Given the description of an element on the screen output the (x, y) to click on. 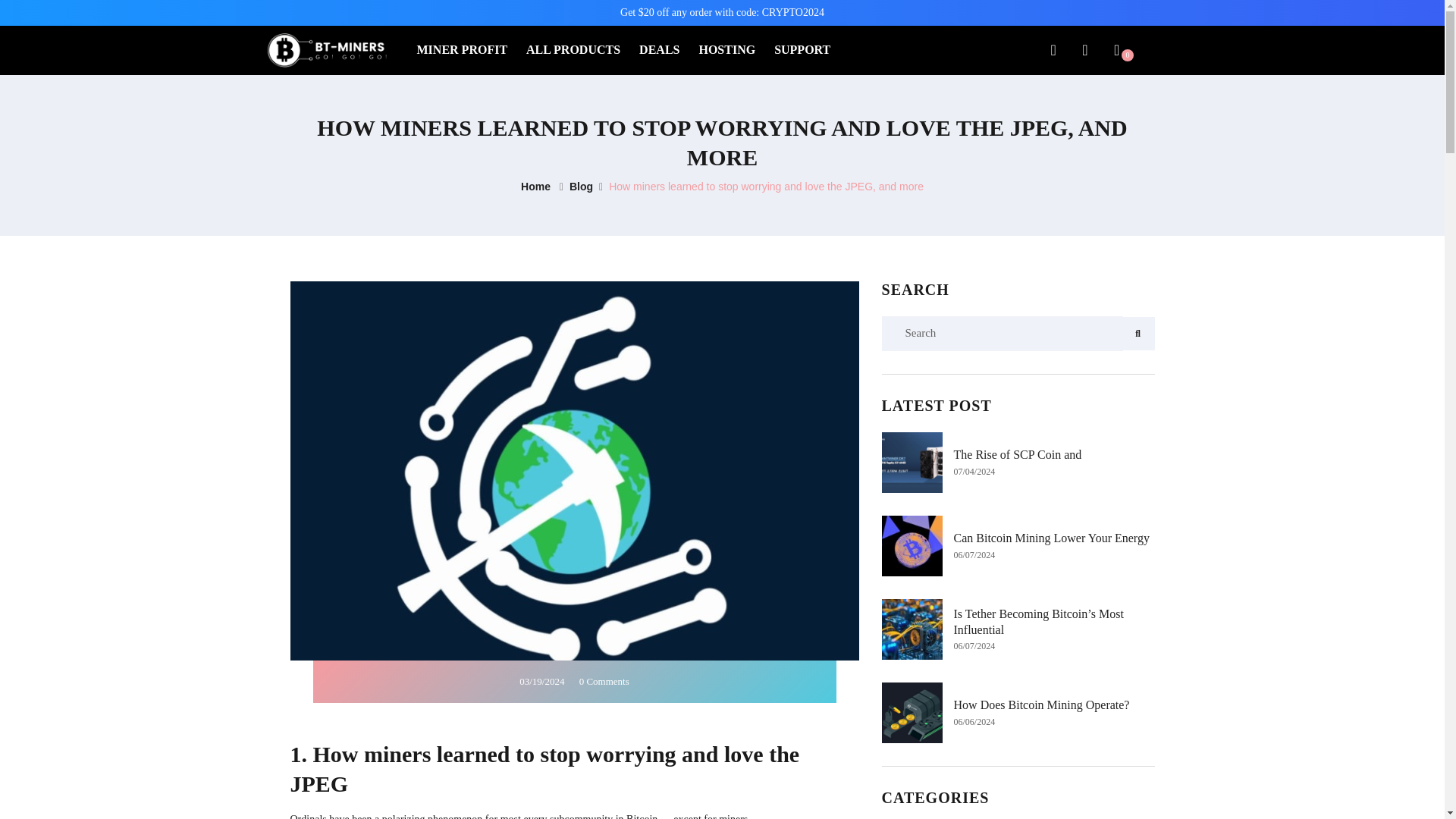
LOGO-WHITE (325, 50)
